Given the description of an element on the screen output the (x, y) to click on. 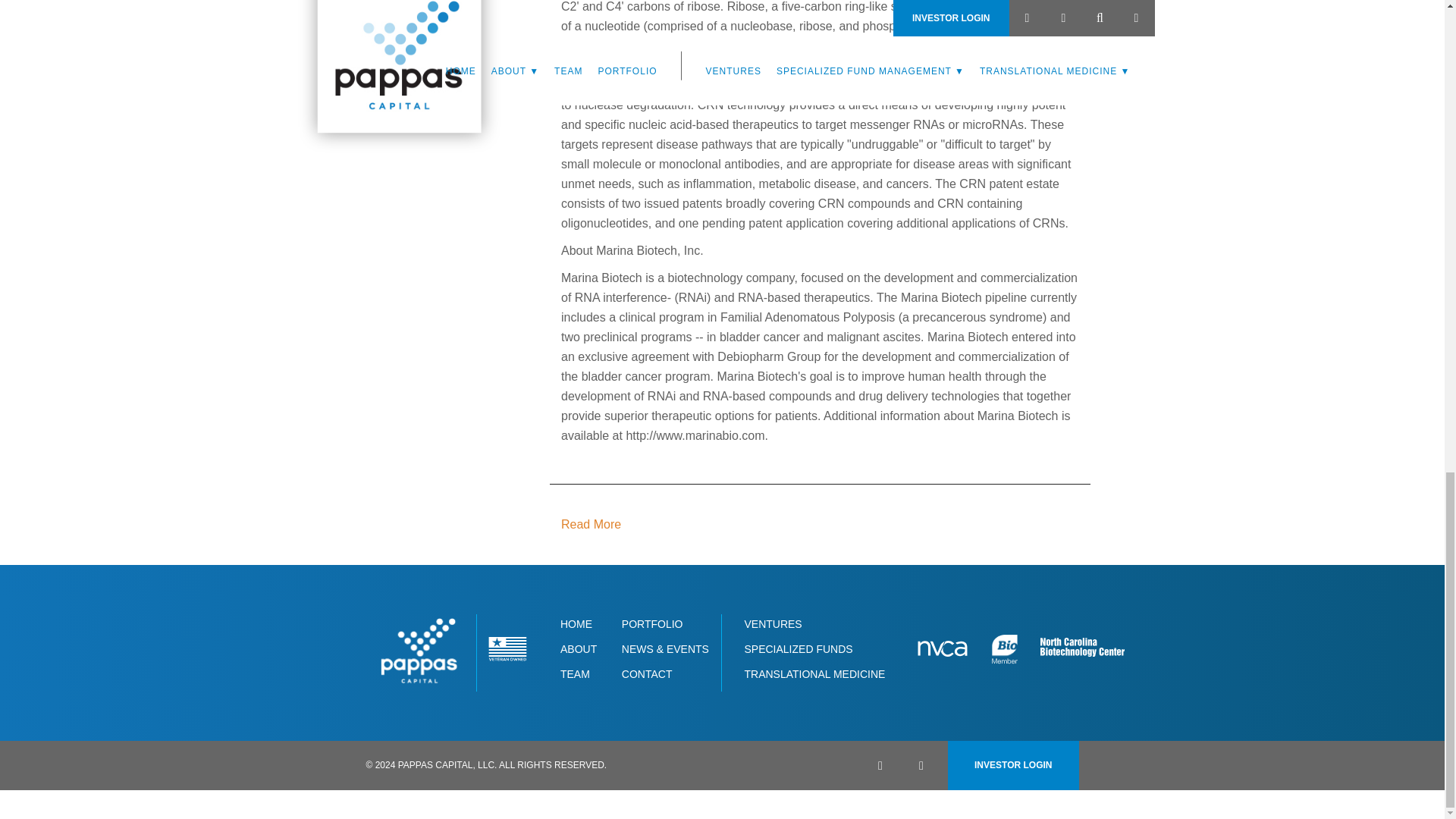
ABOUT (578, 648)
Read More (638, 524)
CONTACT (646, 674)
TEAM (574, 674)
HOME (576, 623)
VENTURES (773, 623)
SPECIALIZED FUNDS (797, 648)
PORTFOLIO (651, 623)
